Given the description of an element on the screen output the (x, y) to click on. 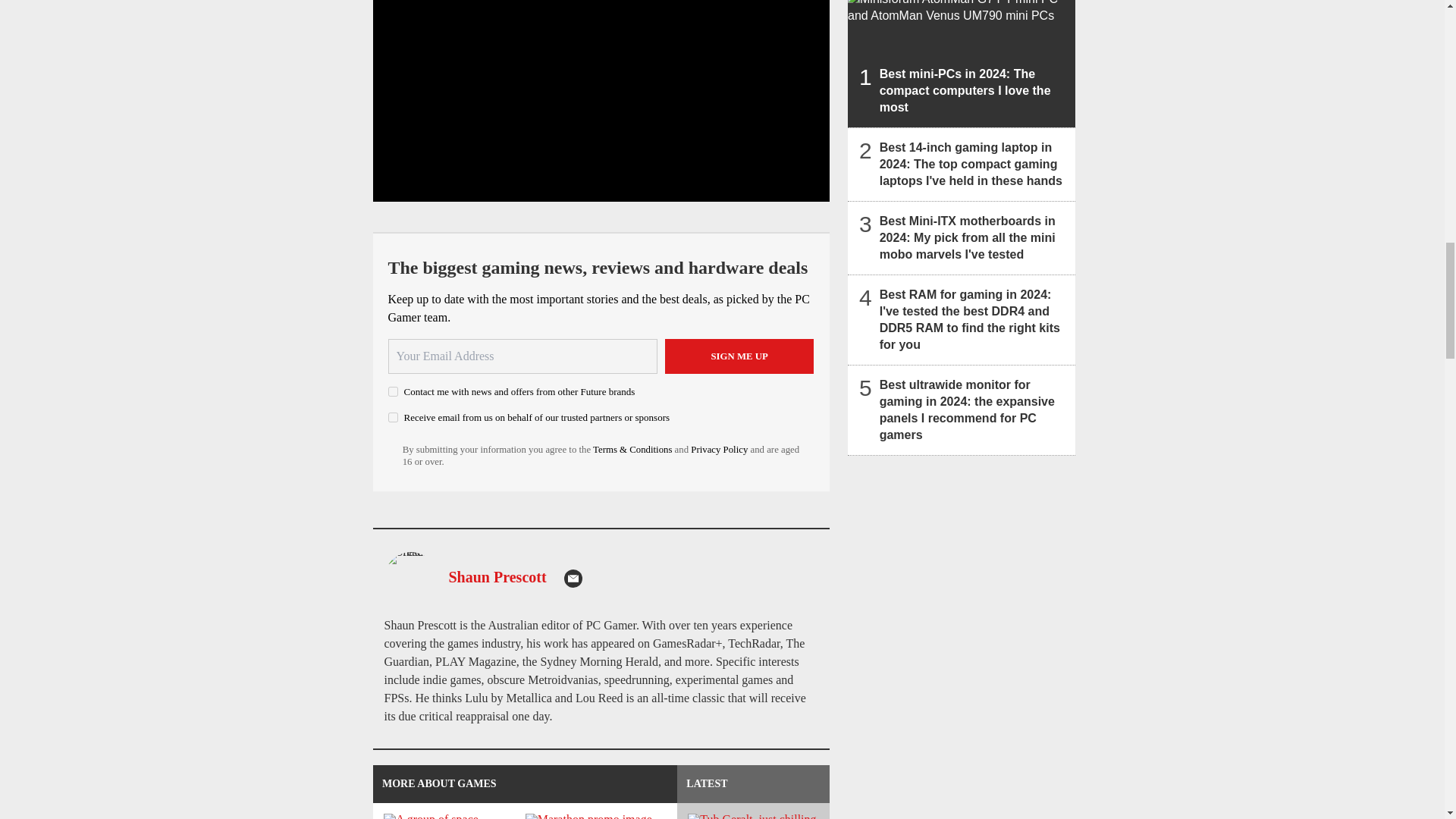
on (392, 391)
Sign me up (739, 356)
on (392, 417)
